Given the description of an element on the screen output the (x, y) to click on. 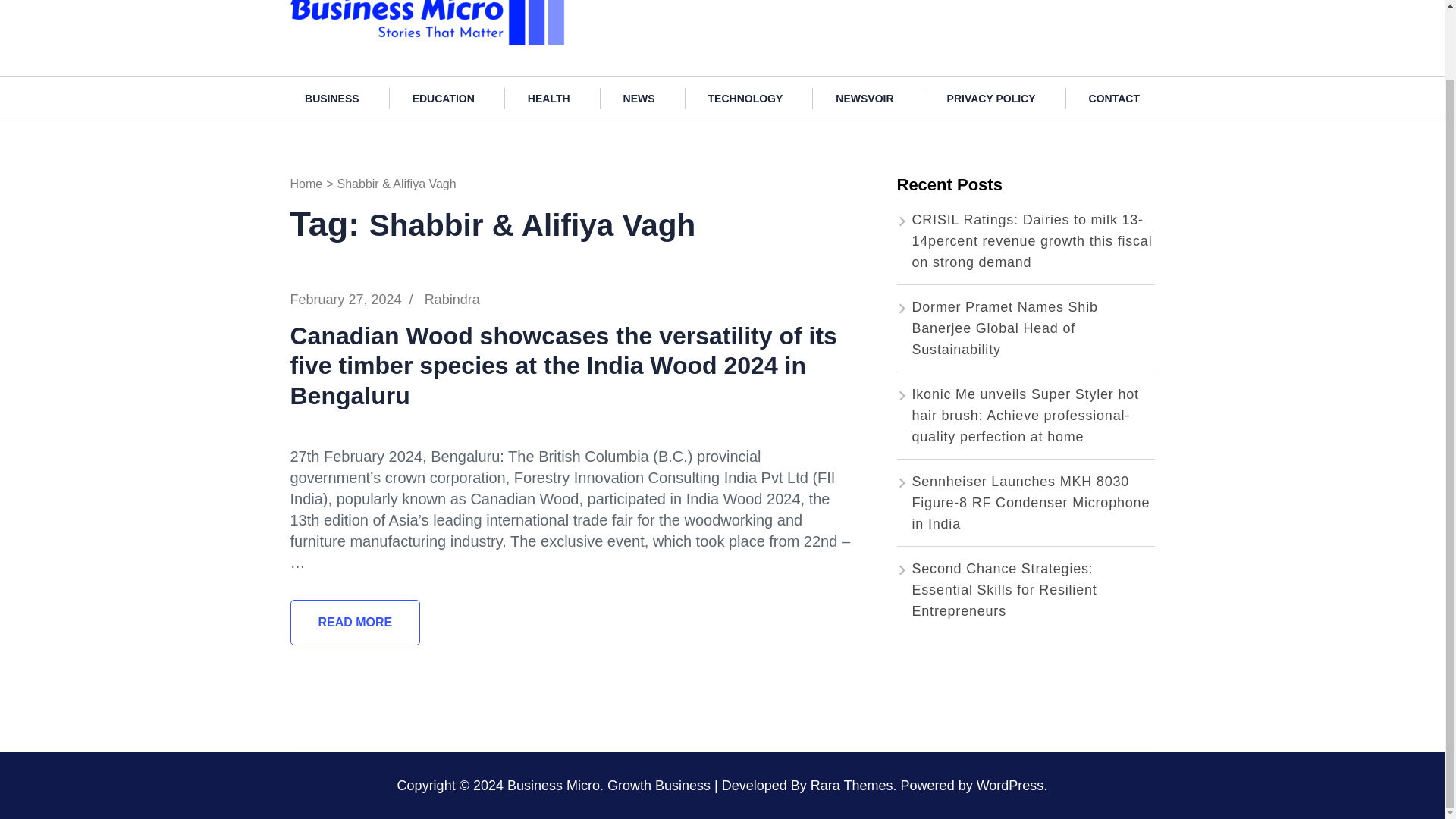
Home (305, 183)
NEWS (639, 97)
Business Micro (628, 1)
BUSINESS (331, 97)
HEALTH (548, 97)
CONTACT (1113, 97)
WordPress (1009, 784)
EDUCATION (444, 97)
PRIVACY POLICY (991, 97)
READ MORE (354, 622)
February 27, 2024 (345, 299)
TECHNOLOGY (745, 97)
